Given the description of an element on the screen output the (x, y) to click on. 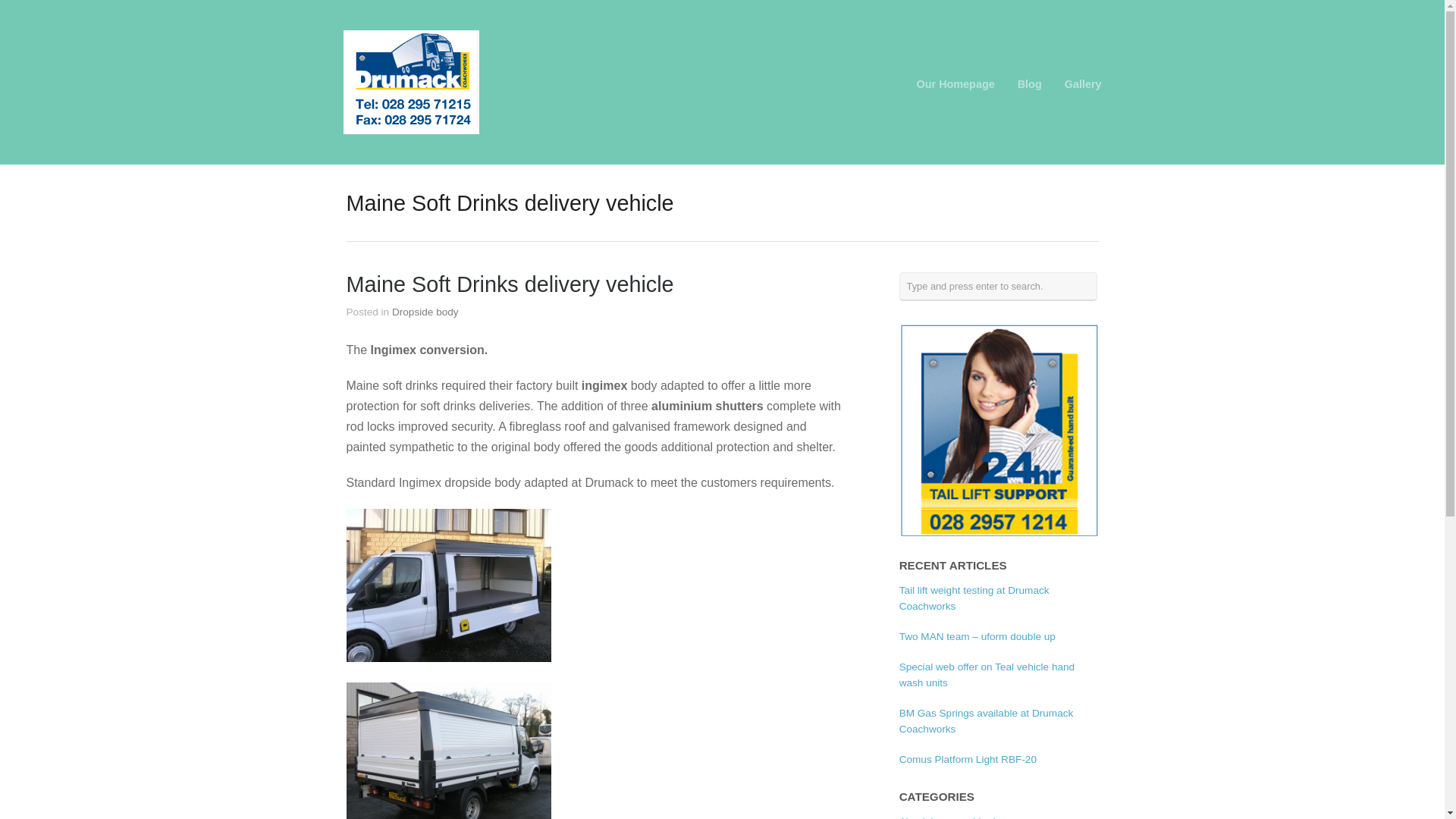
Aluminium panel body (950, 817)
Ingimex dropside conversion by drumack coachworks (448, 750)
tail-lift-support (999, 429)
Tail lift weight testing at Drumack Coachworks (974, 597)
Maine Soft Drinks delivery vehicle (509, 283)
Our Homepage (955, 83)
Dropside body (424, 311)
BM Gas Springs available at Drumack Coachworks (986, 720)
Comus Platform Light RBF-20 (967, 758)
Ingimex dropside (448, 585)
Gallery (1083, 83)
Blog (1029, 83)
Special web offer on Teal vehicle hand wash units (987, 673)
Type and press enter to search. (998, 286)
